Given the description of an element on the screen output the (x, y) to click on. 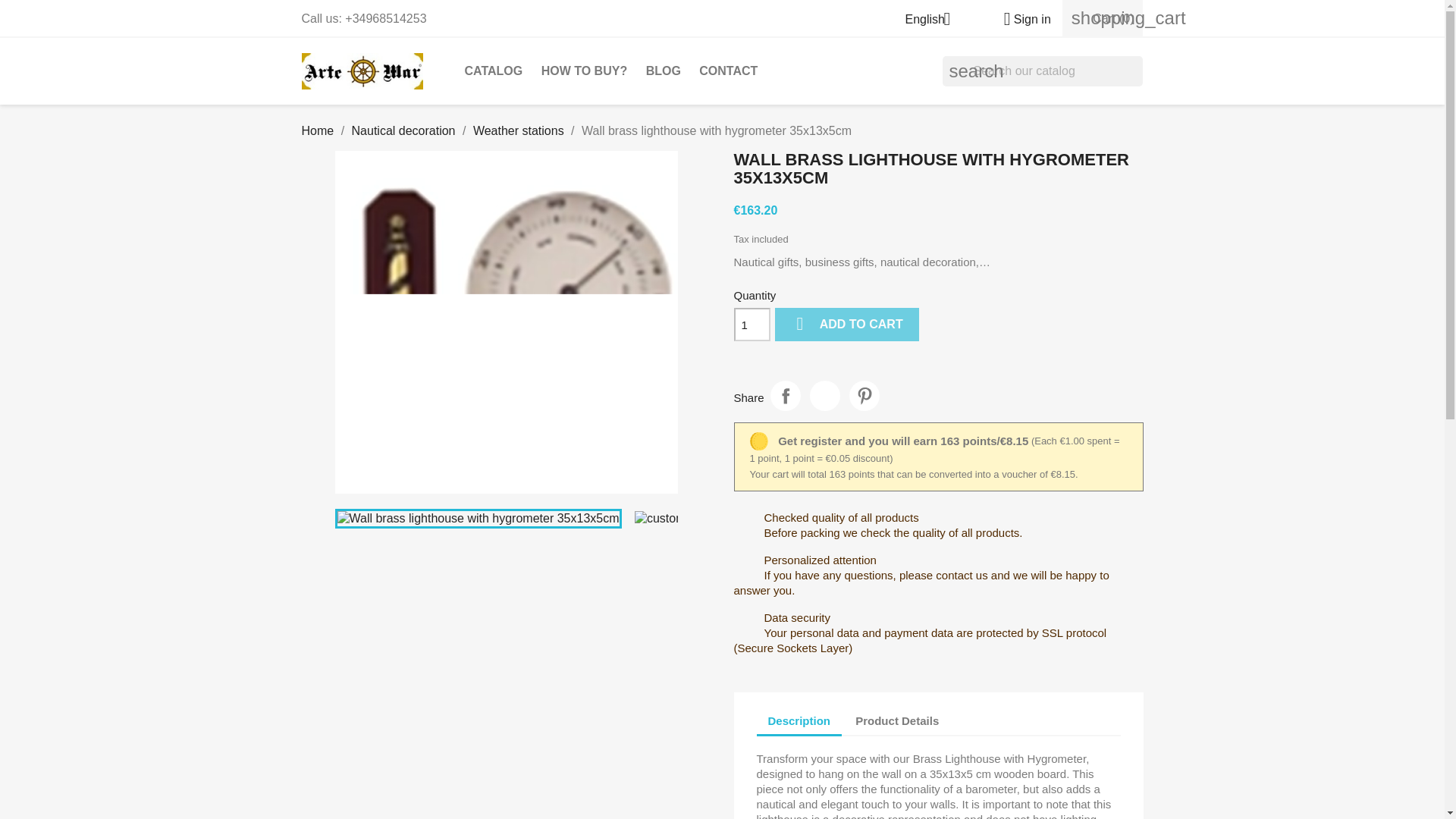
Log in to your customer account (1020, 19)
Tweet (824, 395)
customization (677, 518)
Share (785, 395)
1 (751, 324)
Pinterest (863, 395)
Wall brass lighthouse with hygrometer 35x13x5cm (477, 518)
Wall brass lighthouse with hygrometer 35x13x5cm (506, 321)
CATALOG (493, 71)
